Given the description of an element on the screen output the (x, y) to click on. 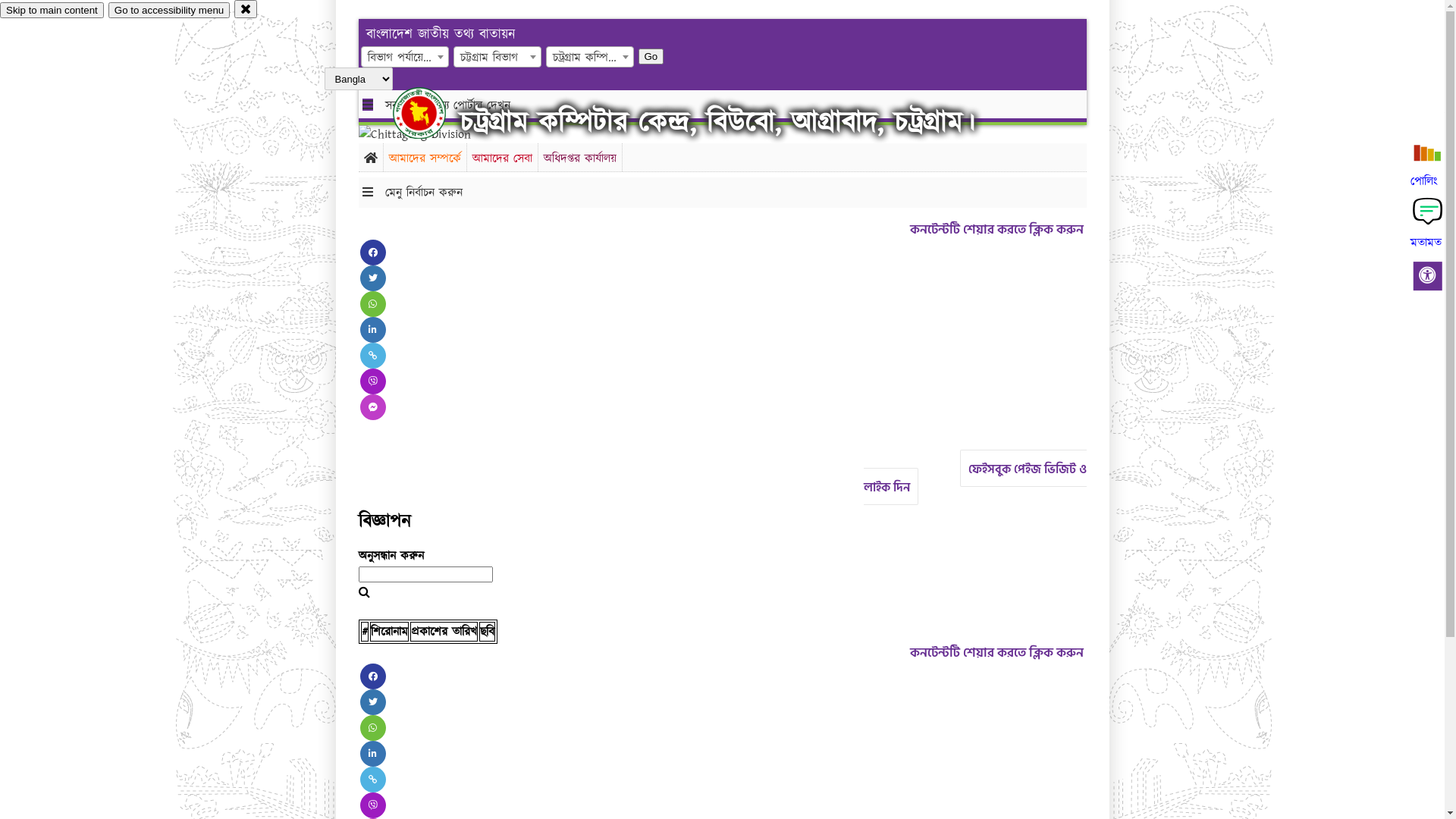
Skip to main content Element type: text (51, 10)
Go to accessibility menu Element type: text (168, 10)

                
             Element type: hover (431, 112)
Go Element type: text (651, 56)
close Element type: hover (245, 9)
